Given the description of an element on the screen output the (x, y) to click on. 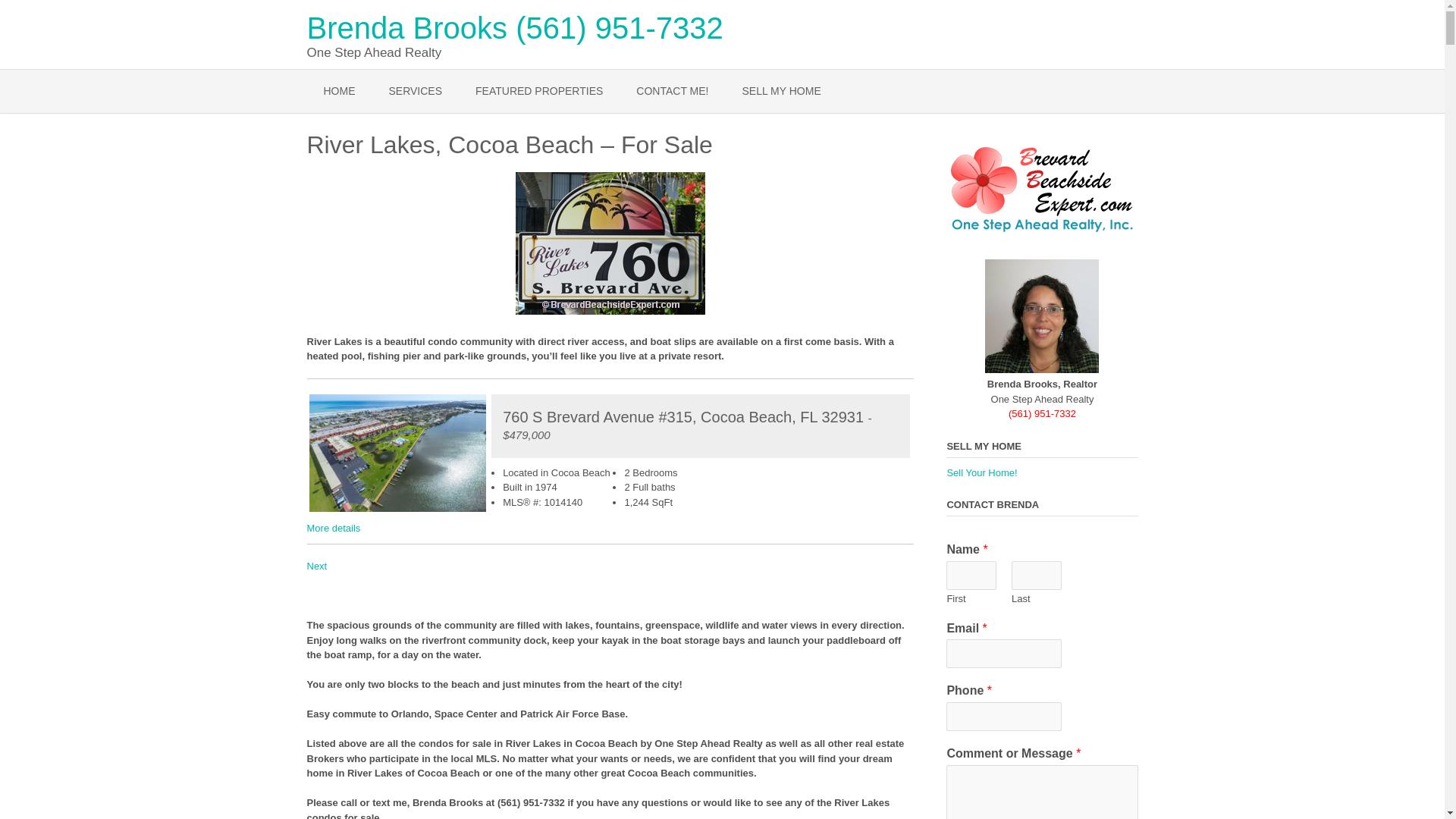
SELL MY HOME (781, 91)
More details (332, 527)
Next (315, 565)
Sell Your Home! (981, 472)
CONTACT ME! (672, 91)
SERVICES (414, 91)
FEATURED PROPERTIES (539, 91)
HOME (338, 91)
